Given the description of an element on the screen output the (x, y) to click on. 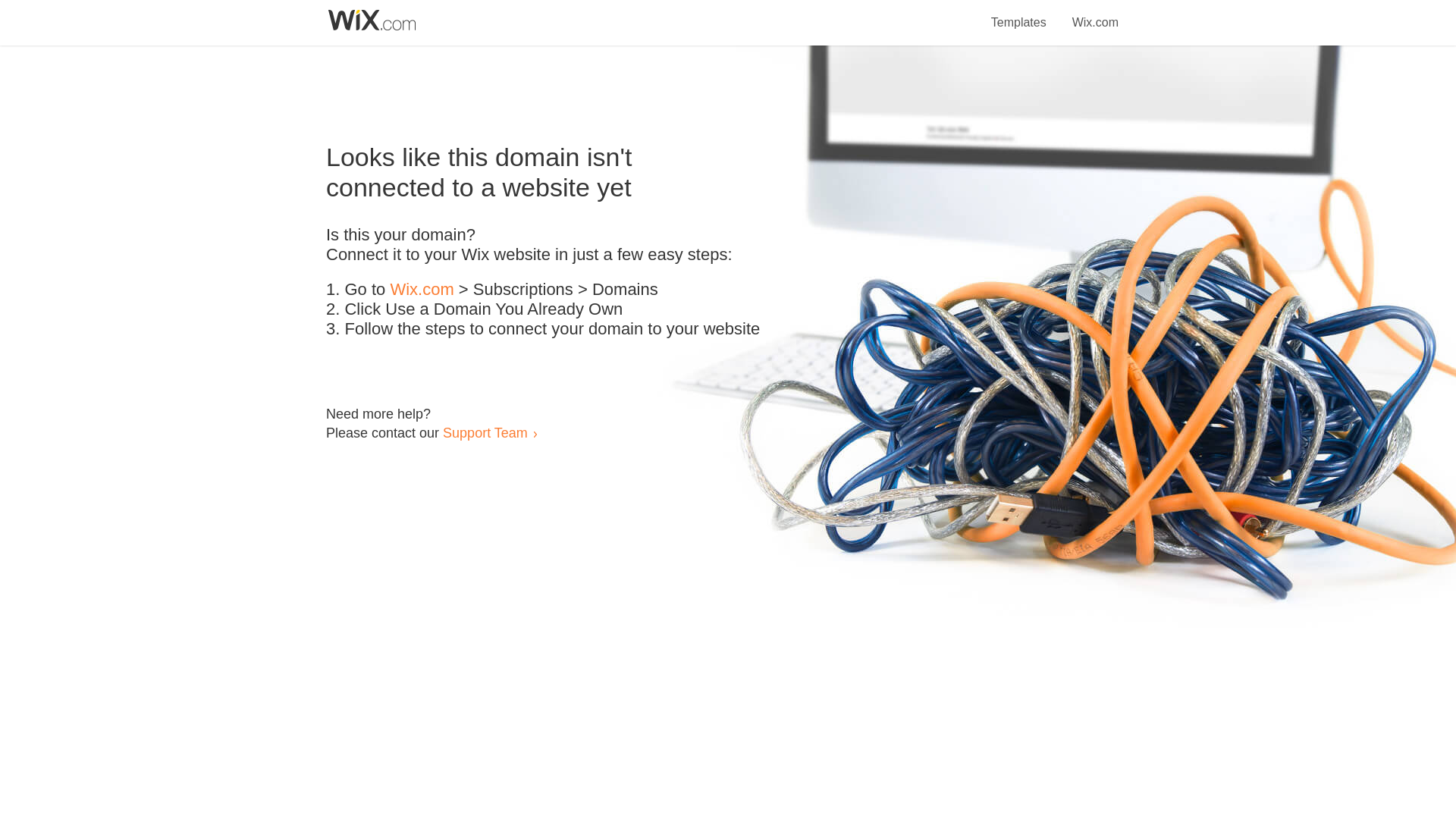
Wix.com (1095, 14)
Templates (1018, 14)
Wix.com (421, 289)
Support Team (484, 432)
